Given the description of an element on the screen output the (x, y) to click on. 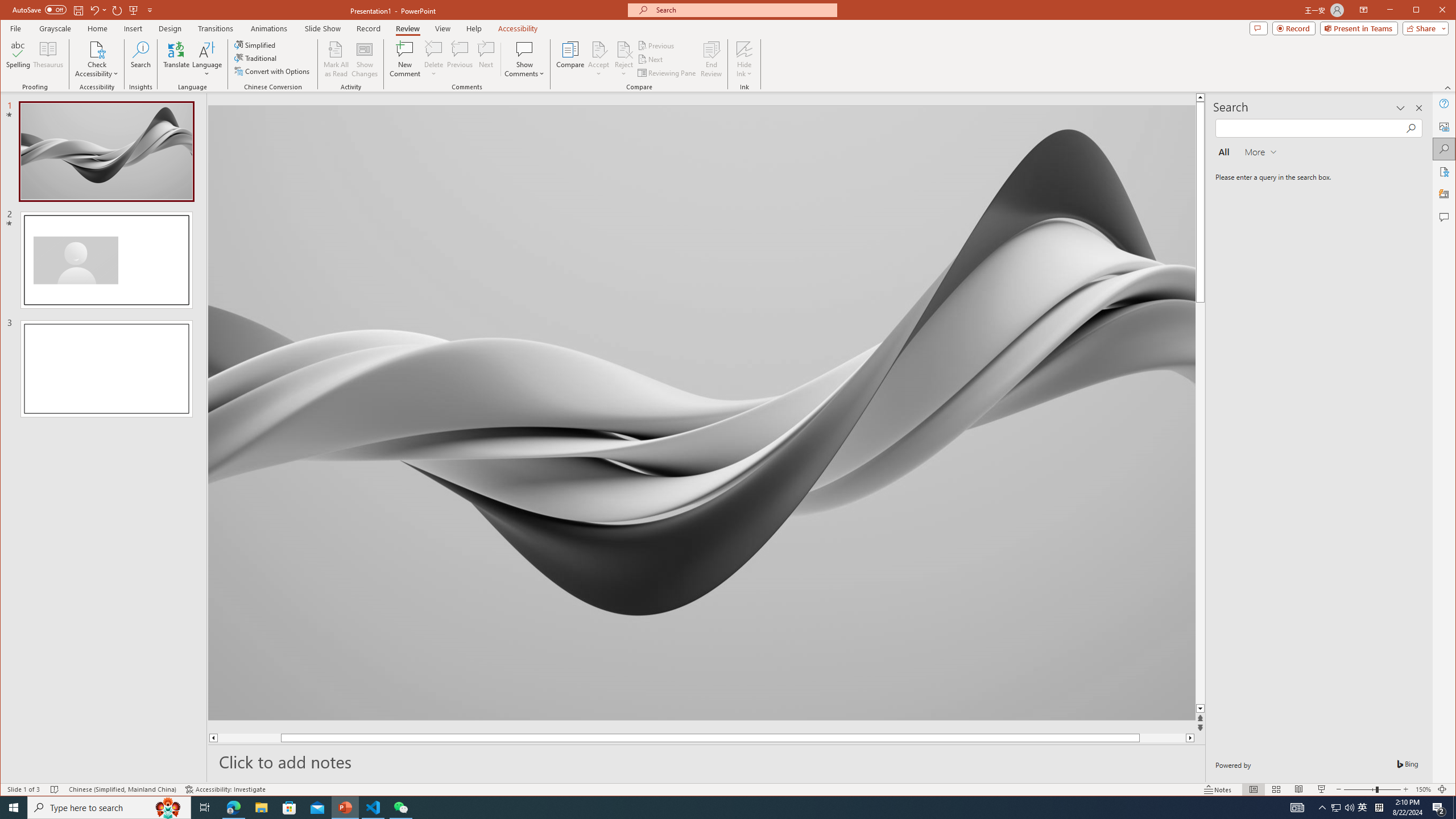
Accept (598, 59)
Accept Change (598, 48)
